Given the description of an element on the screen output the (x, y) to click on. 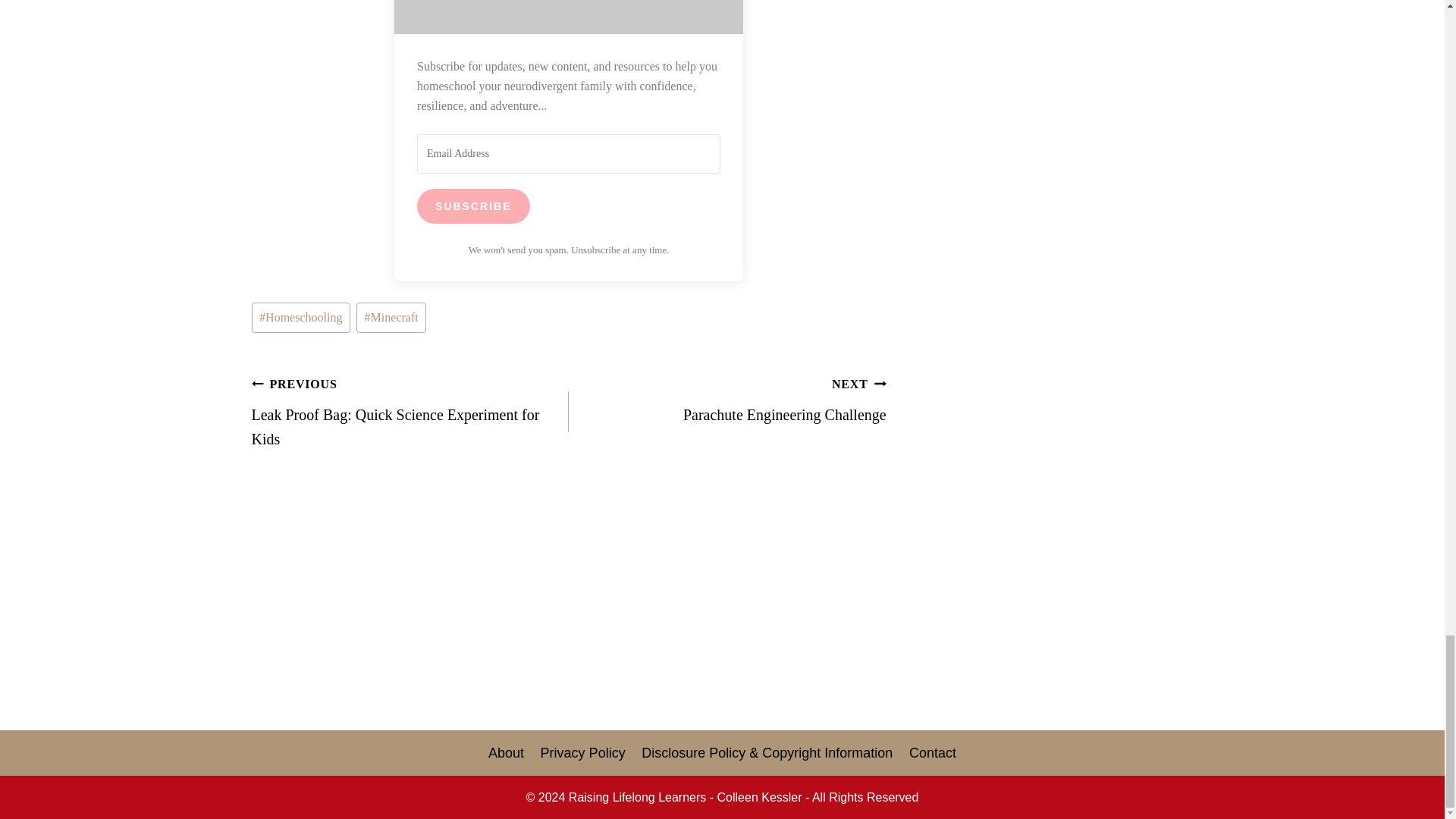
SUBSCRIBE (472, 206)
Homeschooling (410, 411)
Minecraft (300, 317)
